Given the description of an element on the screen output the (x, y) to click on. 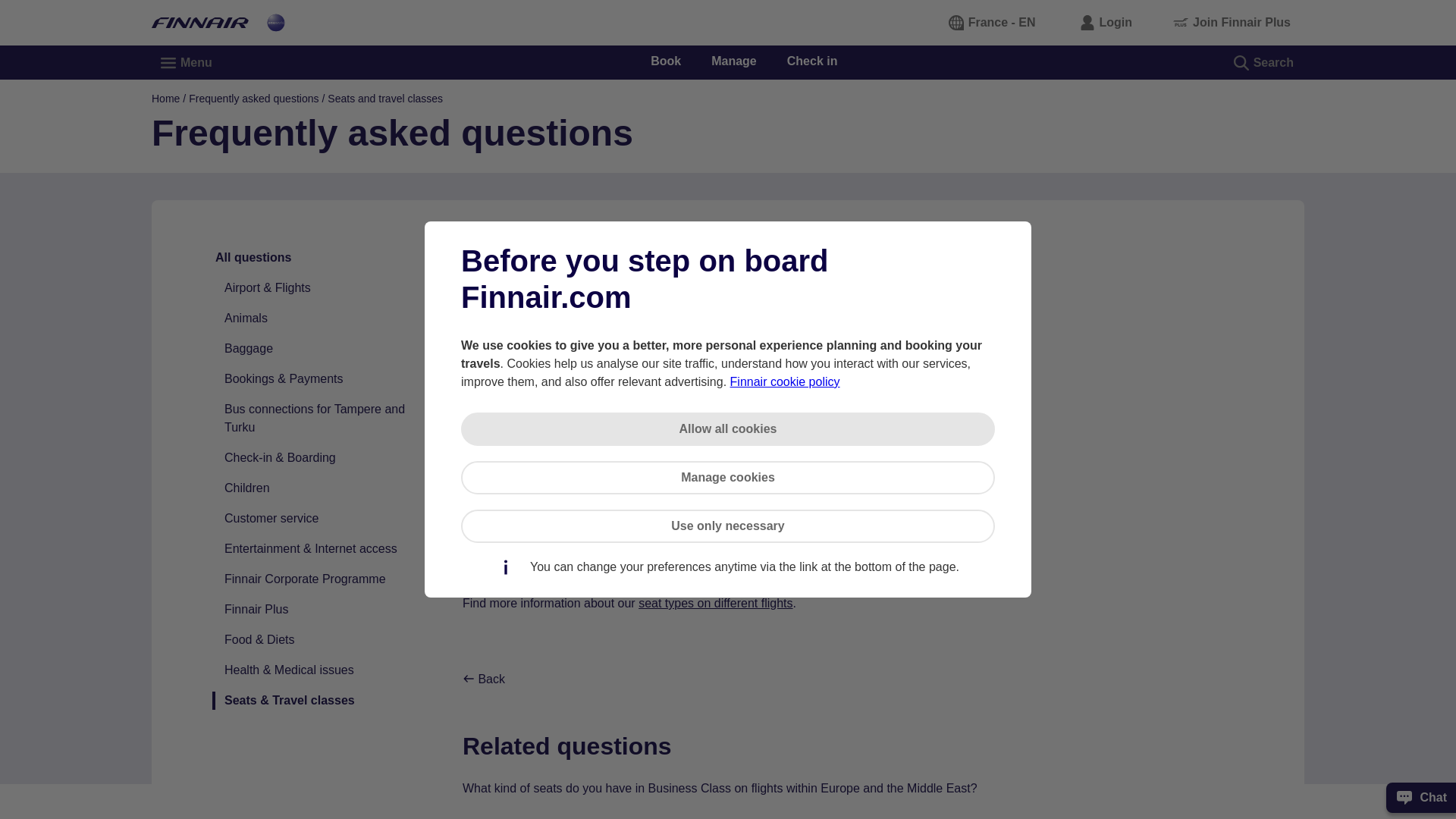
France - EN (992, 22)
Menu (186, 61)
Login (1107, 22)
Search (1264, 61)
Manage (734, 61)
Join Finnair Plus (1232, 22)
Check in (812, 61)
Book (665, 61)
